Given the description of an element on the screen output the (x, y) to click on. 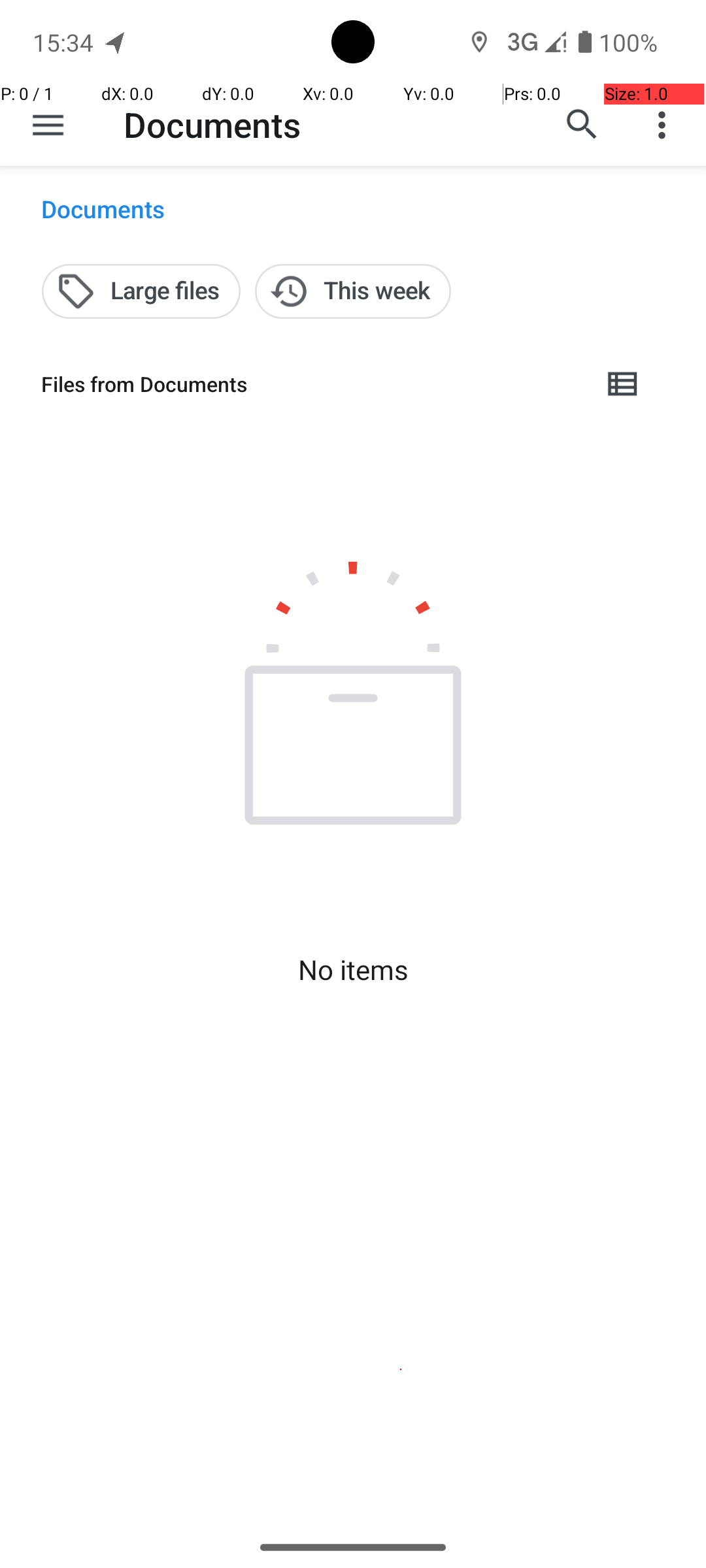
Files from Documents Element type: android.widget.TextView (311, 383)
